Given the description of an element on the screen output the (x, y) to click on. 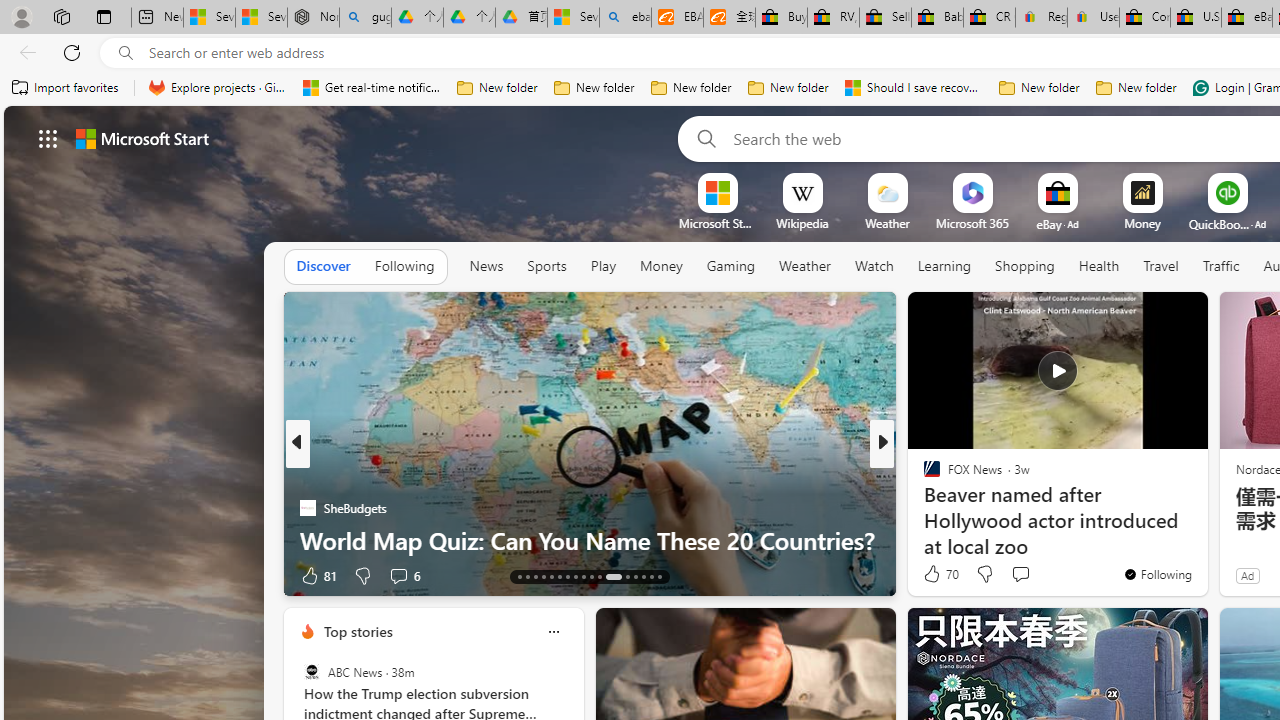
11 Like (934, 574)
Search (702, 138)
Following (404, 267)
Health (1099, 265)
Sports (546, 265)
Learning (944, 265)
More options (553, 631)
Personal Profile (21, 16)
Discover (323, 265)
AutomationID: tab-35 (659, 576)
View comments 24 Comment (1029, 574)
AutomationID: tab-16 (542, 576)
